Given the description of an element on the screen output the (x, y) to click on. 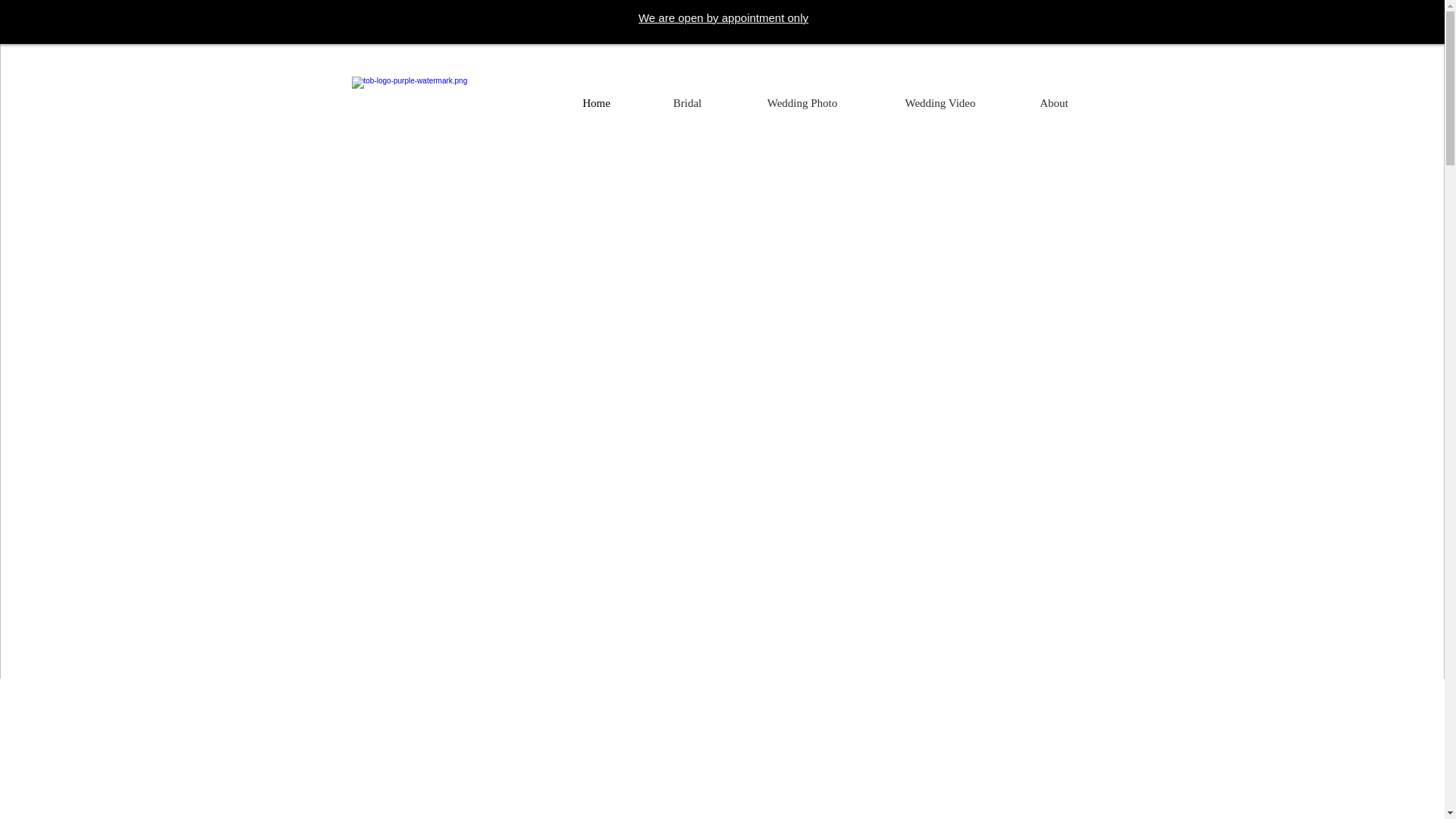
We are open by appointment only (723, 18)
Bridal (687, 102)
Wedding Photo (801, 102)
Home (596, 102)
Wedding Video (940, 102)
